Given the description of an element on the screen output the (x, y) to click on. 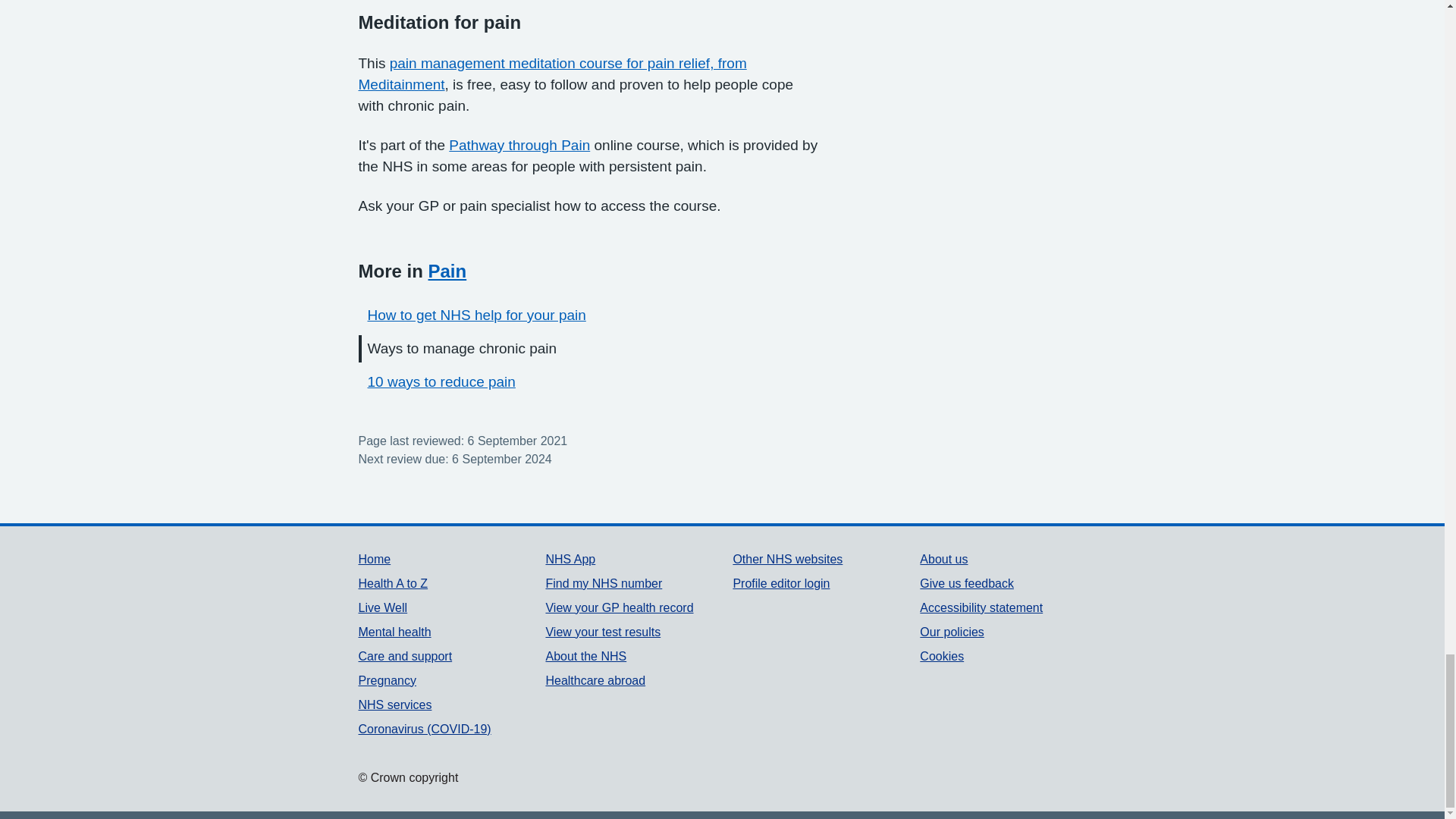
Pain (447, 271)
Home (374, 558)
How to get NHS help for your pain (475, 314)
Live Well (382, 607)
Health A to Z (393, 583)
Care and support (404, 656)
10 ways to reduce pain (440, 381)
Mental health (394, 631)
Pathway through Pain (518, 145)
